Given the description of an element on the screen output the (x, y) to click on. 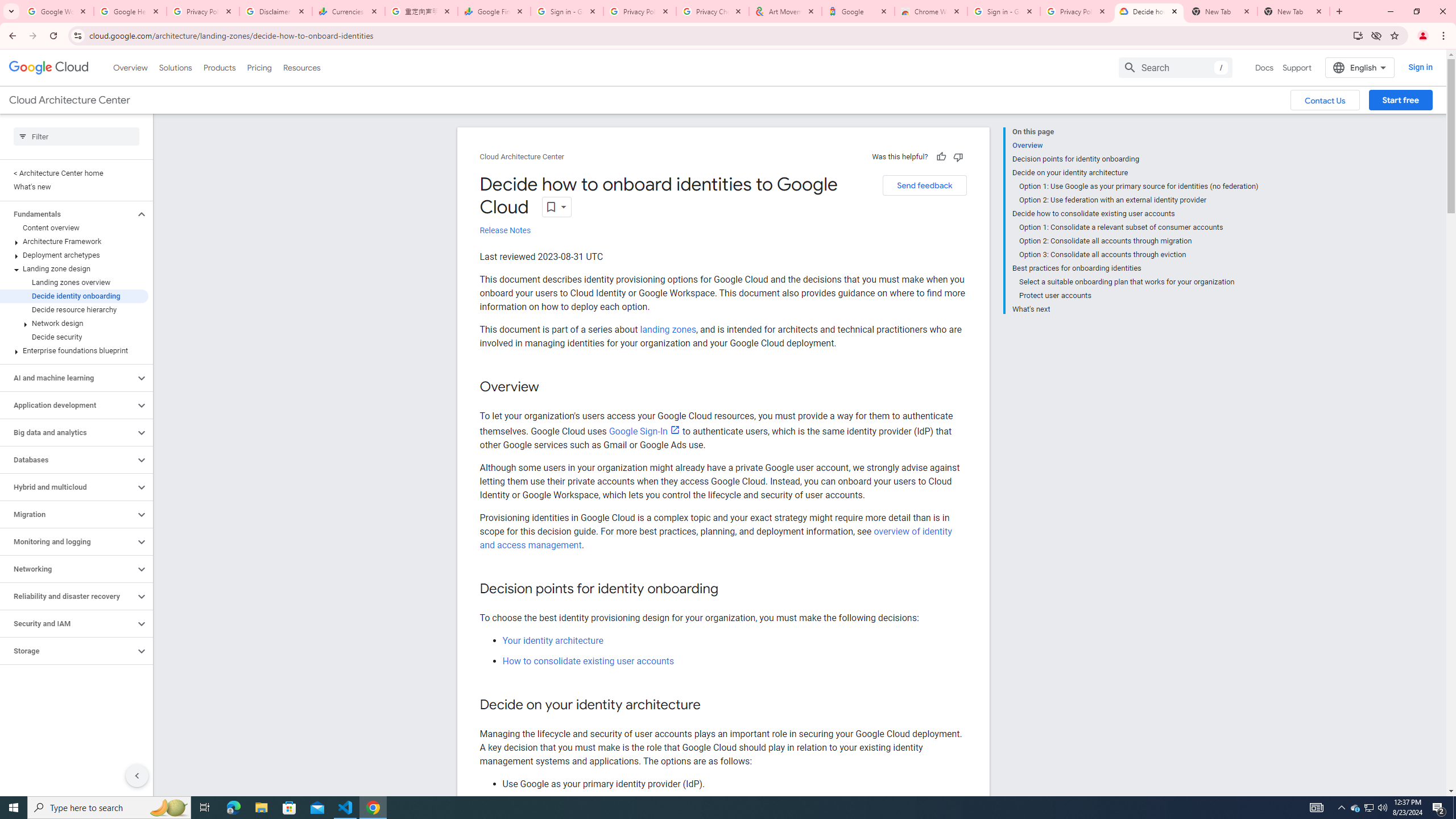
Solutions (175, 67)
Reliability and disaster recovery (67, 596)
Type to filter (76, 136)
Sign in - Google Accounts (566, 11)
Fundamentals (67, 214)
Currencies - Google Finance (348, 11)
AI and machine learning (67, 377)
Docs, selected (1264, 67)
Decide on your identity architecture (1134, 172)
English (1359, 67)
